Given the description of an element on the screen output the (x, y) to click on. 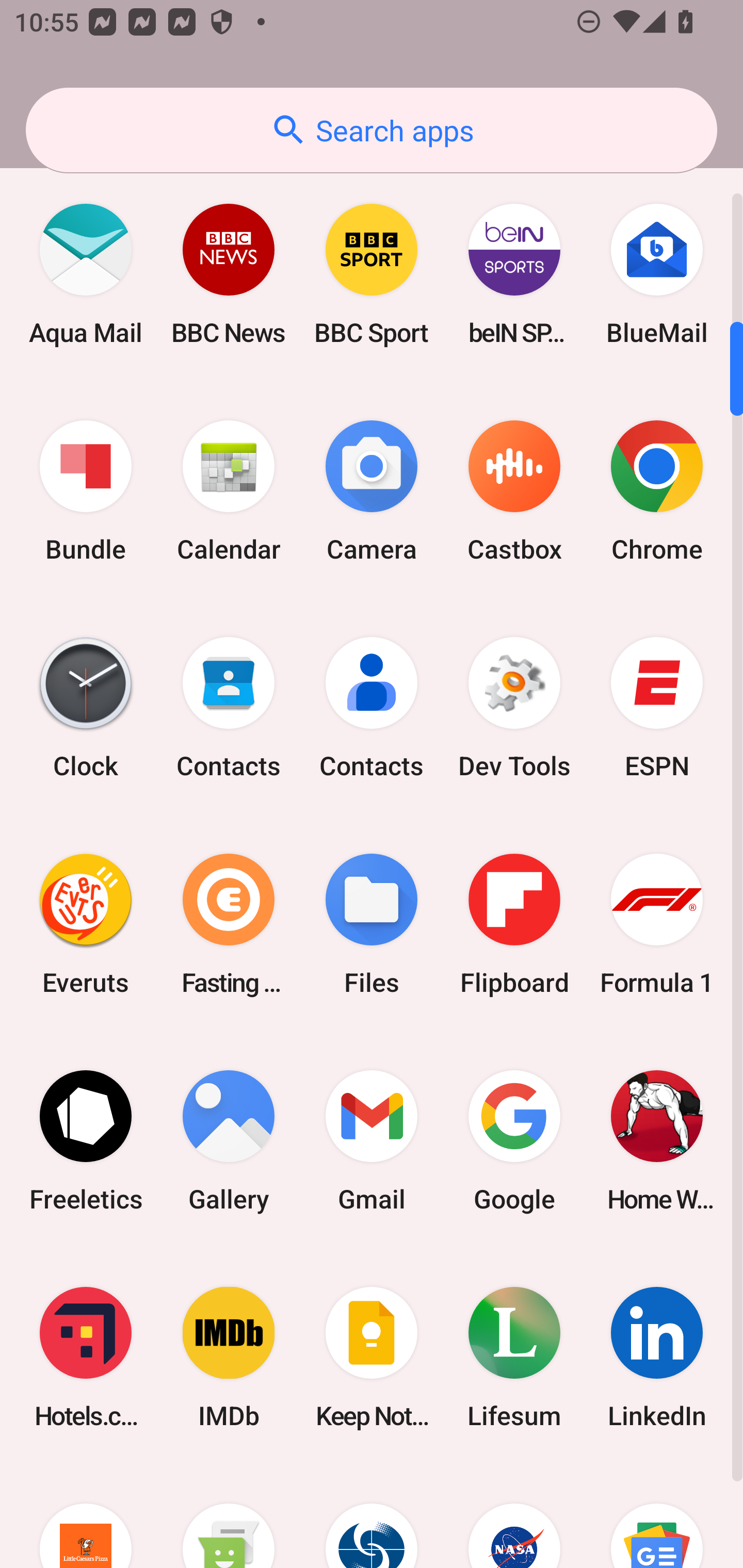
  Search apps (371, 130)
Aqua Mail (85, 274)
BBC News (228, 274)
BBC Sport (371, 274)
beIN SPORTS (514, 274)
BlueMail (656, 274)
Bundle (85, 490)
Calendar (228, 490)
Camera (371, 490)
Castbox (514, 490)
Chrome (656, 490)
Clock (85, 706)
Contacts (228, 706)
Contacts (371, 706)
Dev Tools (514, 706)
ESPN (656, 706)
Everuts (85, 924)
Fasting Coach (228, 924)
Files (371, 924)
Flipboard (514, 924)
Formula 1 (656, 924)
Freeletics (85, 1141)
Gallery (228, 1141)
Gmail (371, 1141)
Google (514, 1141)
Home Workout (656, 1141)
Hotels.com (85, 1357)
IMDb (228, 1357)
Keep Notes (371, 1357)
Lifesum (514, 1357)
LinkedIn (656, 1357)
Little Caesars Pizza (85, 1517)
Messaging (228, 1517)
MyObservatory (371, 1517)
NASA (514, 1517)
News (656, 1517)
